Given the description of an element on the screen output the (x, y) to click on. 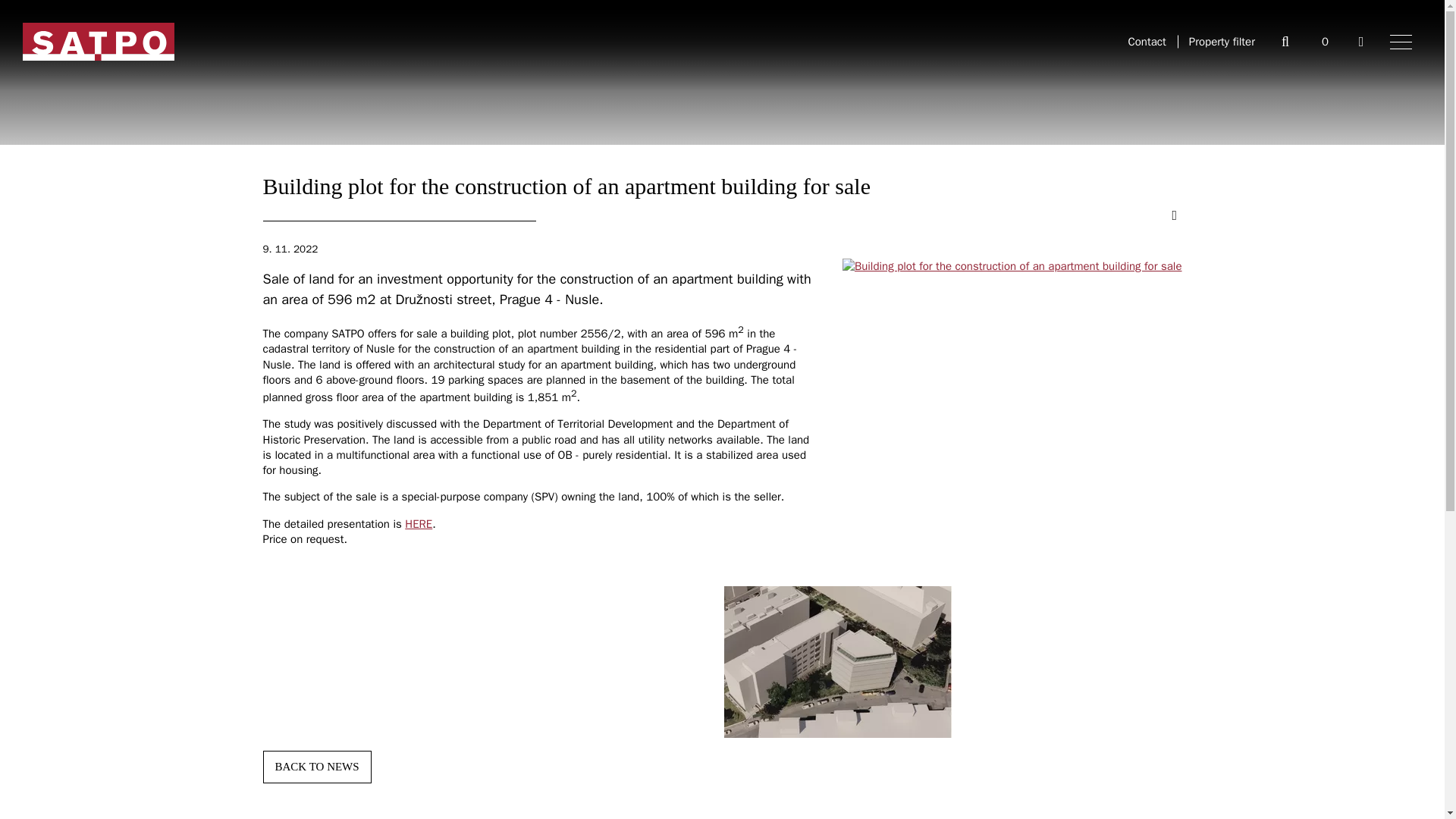
Property filter (1221, 41)
Contact (1146, 41)
find (1285, 41)
Contact (1146, 41)
menu (1401, 41)
Property filter (1221, 41)
